Given the description of an element on the screen output the (x, y) to click on. 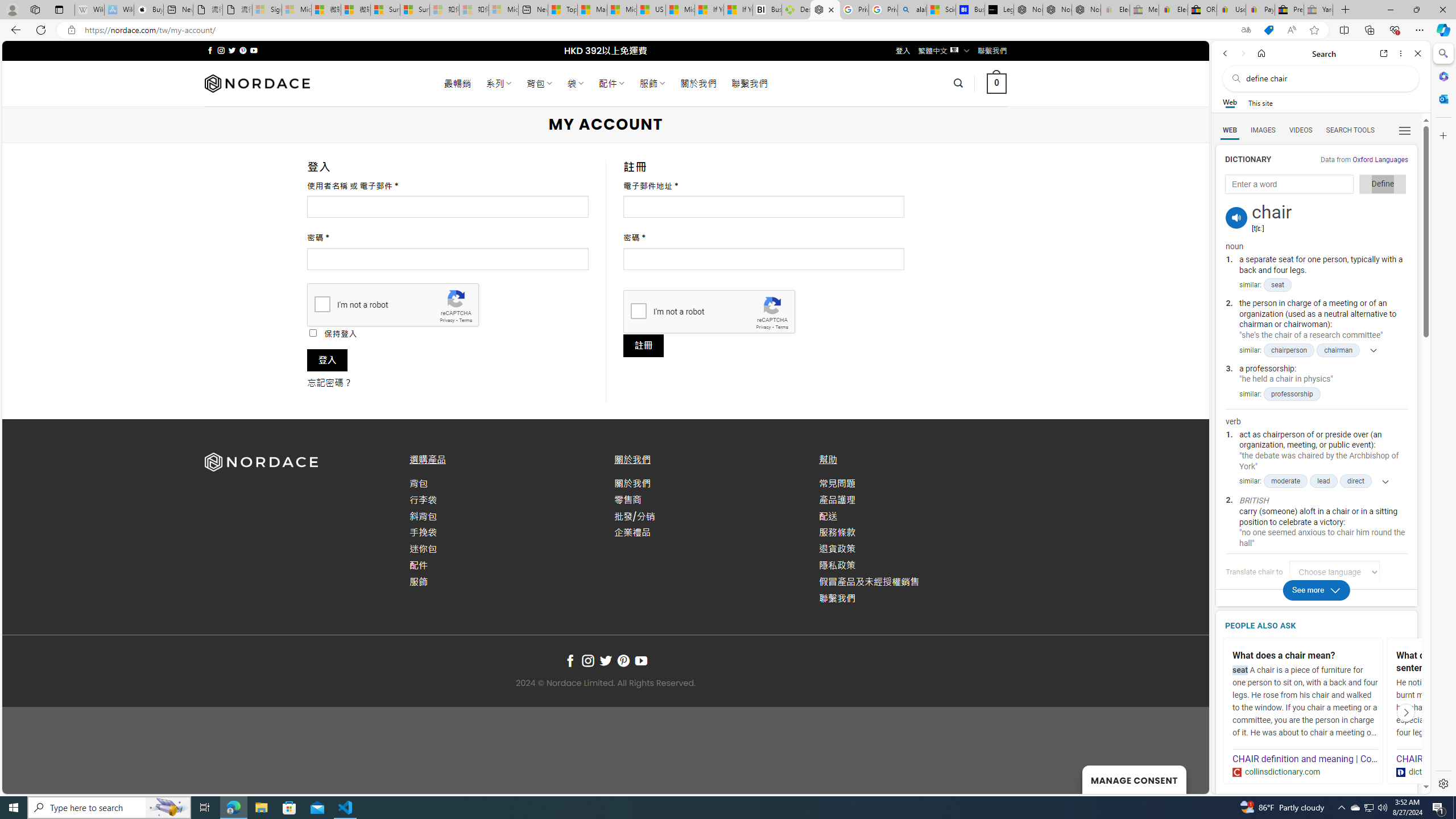
direct (1355, 481)
chairman (1337, 350)
